Given the description of an element on the screen output the (x, y) to click on. 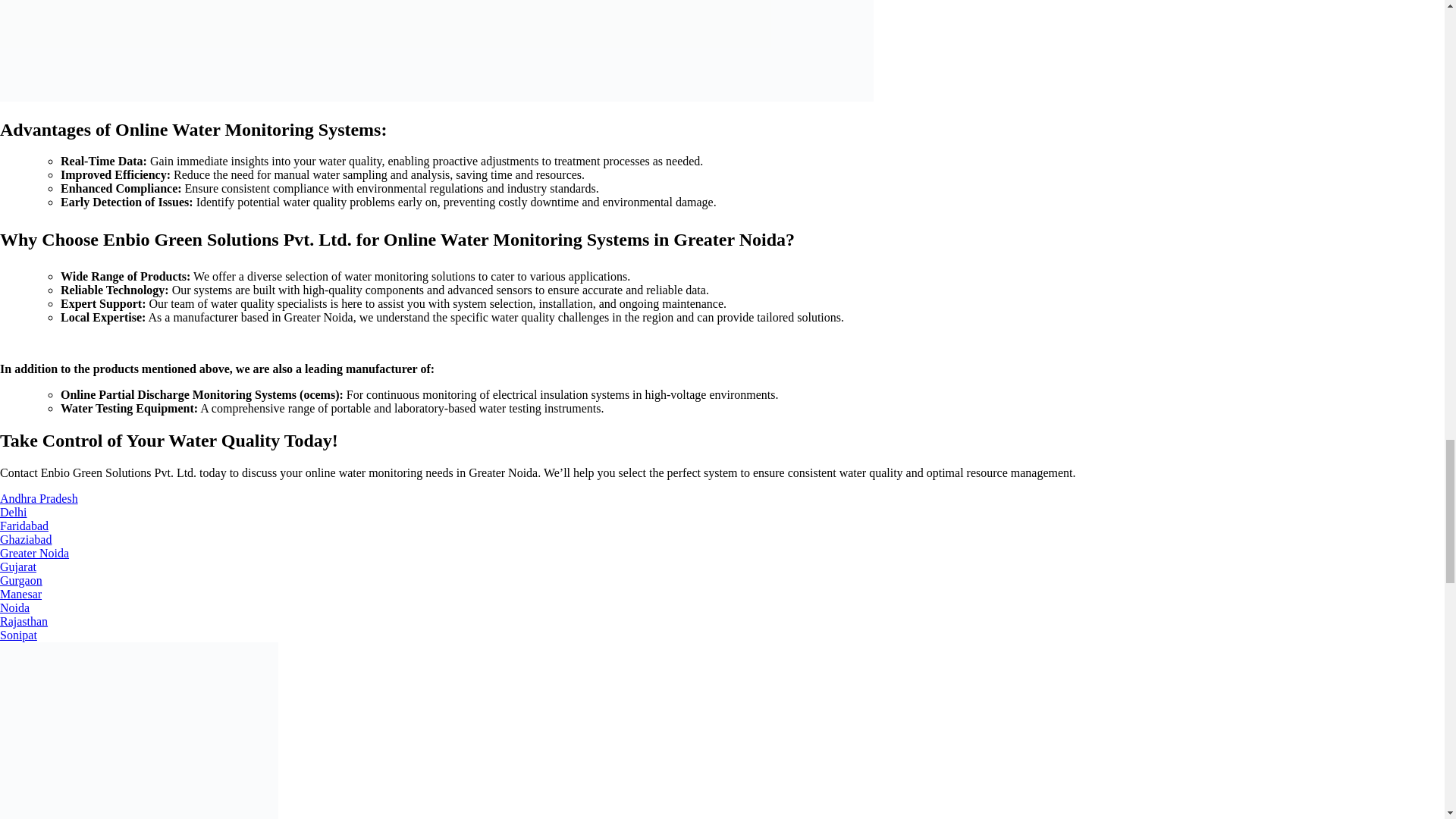
Gujarat (18, 566)
Ghaziabad (25, 539)
Sonipat (18, 634)
Delhi (13, 512)
Andhra Pradesh (39, 498)
online-monitoring (436, 50)
Greater Noida (34, 553)
Noida (14, 607)
Rajasthan (24, 621)
Manesar (21, 594)
Gurgaon (21, 580)
Faridabad (24, 525)
